Given the description of an element on the screen output the (x, y) to click on. 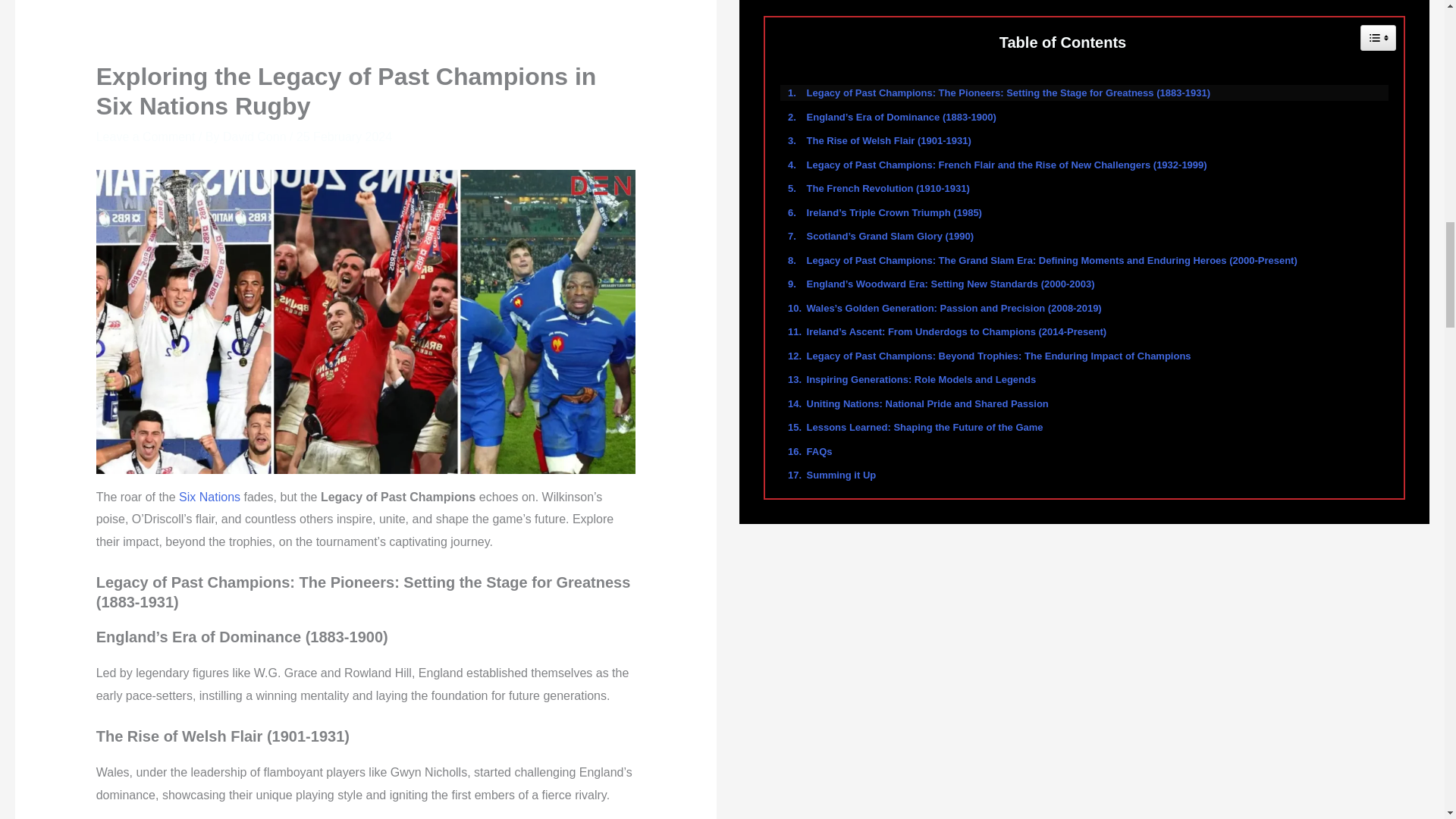
David Conn (255, 136)
View all posts by David Conn (255, 136)
Six Nations (209, 496)
Leave a Comment (145, 136)
